Given the description of an element on the screen output the (x, y) to click on. 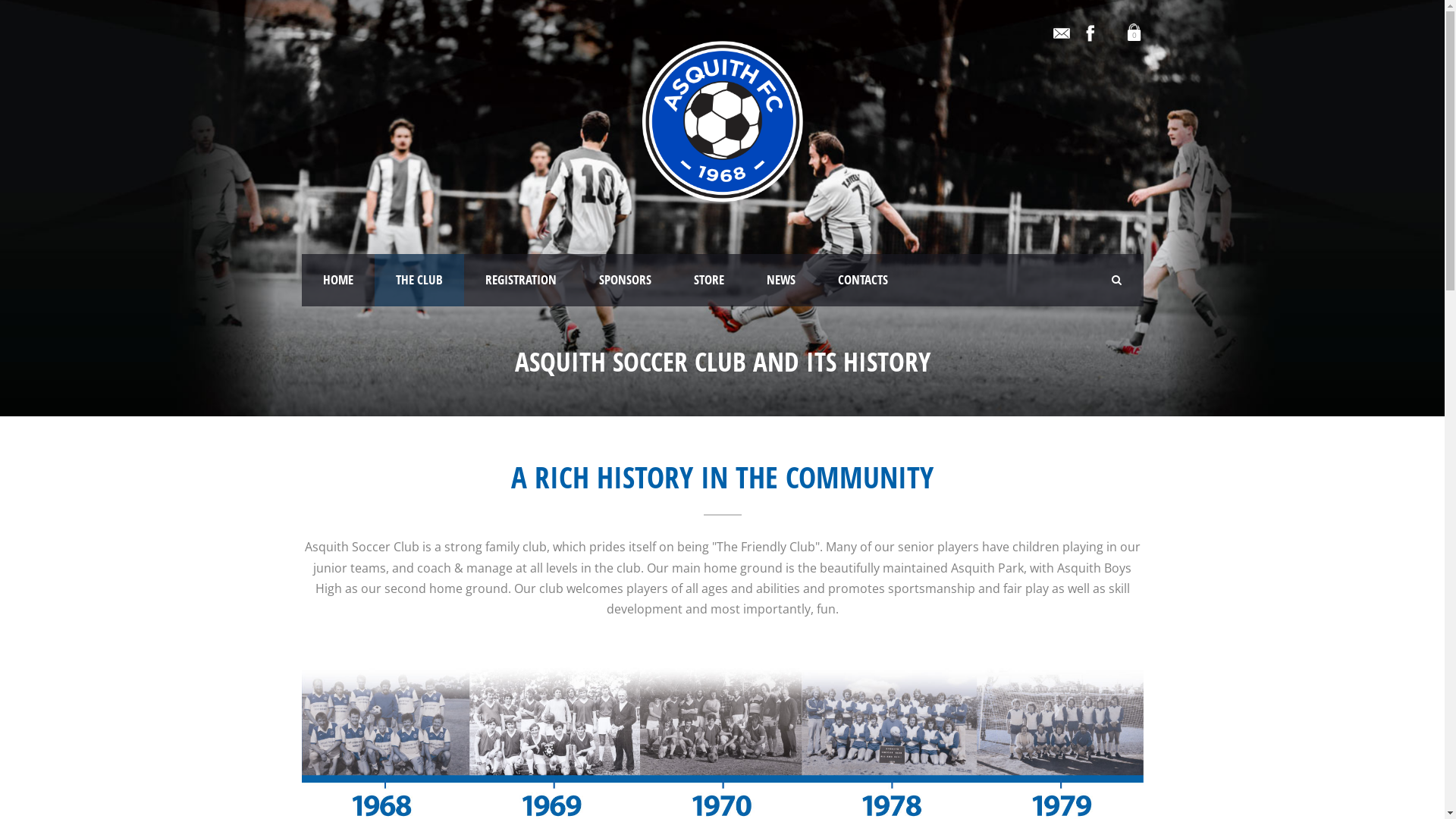
HOME Element type: text (337, 280)
REGISTRATION Element type: text (520, 280)
SPONSORS Element type: text (624, 280)
THE CLUB Element type: text (419, 280)
NEWS Element type: text (779, 280)
STORE Element type: text (707, 280)
CONTACTS Element type: text (861, 280)
